Given the description of an element on the screen output the (x, y) to click on. 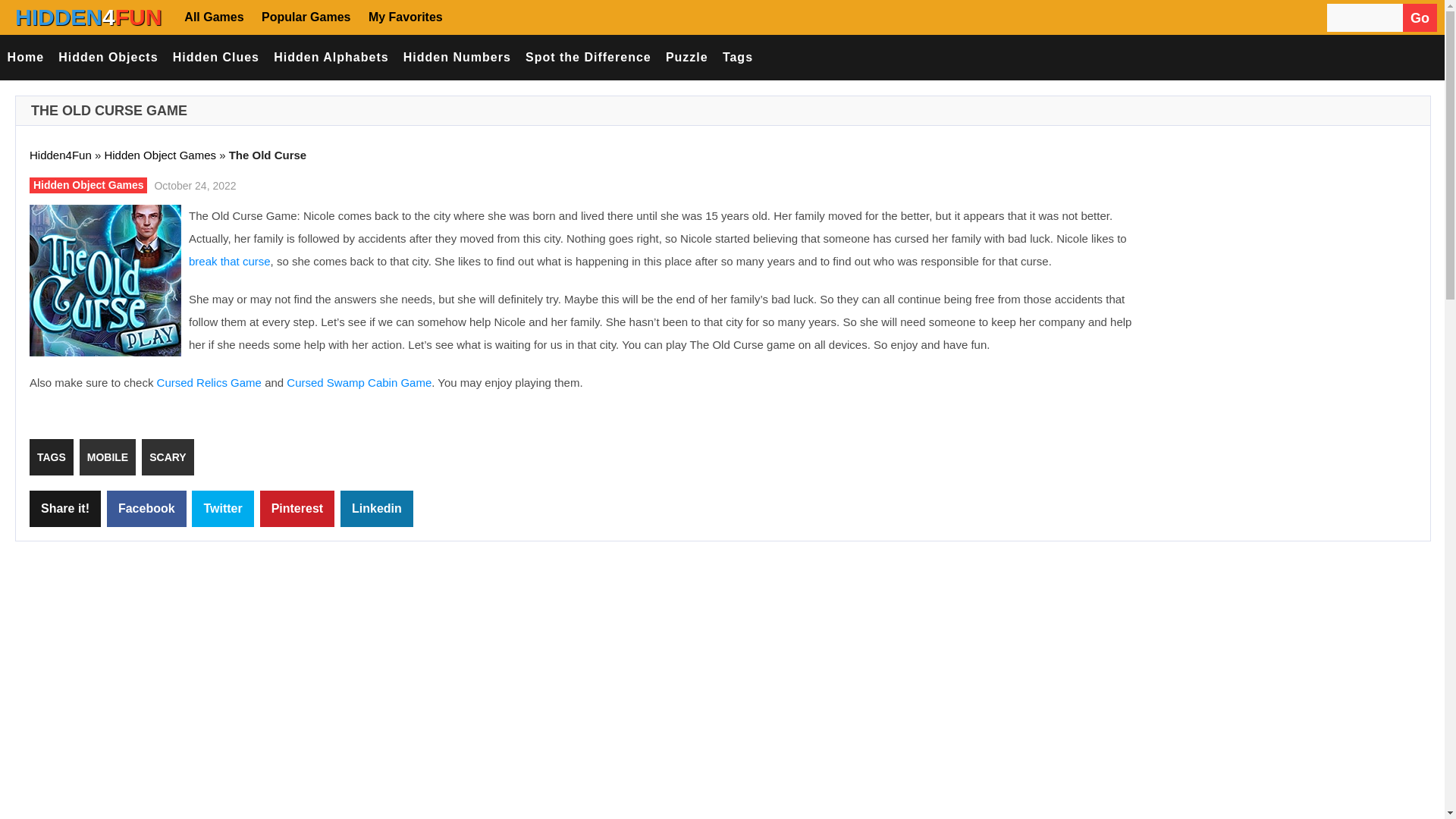
4:21 PM (192, 184)
My Favorites (403, 16)
Tags (737, 57)
Play Free Online Hidden Object Games at Hidden4Fun (88, 17)
Follow us on Facebook (472, 17)
Spot the Difference (588, 57)
Follow us on Twitter (517, 17)
break that curse (229, 260)
Puzzle (686, 57)
SCARY (167, 456)
Hidden Object Games (88, 185)
All Games (216, 16)
MOBILE (107, 456)
Popular Games (303, 16)
Hidden Alphabets (331, 57)
